Given the description of an element on the screen output the (x, y) to click on. 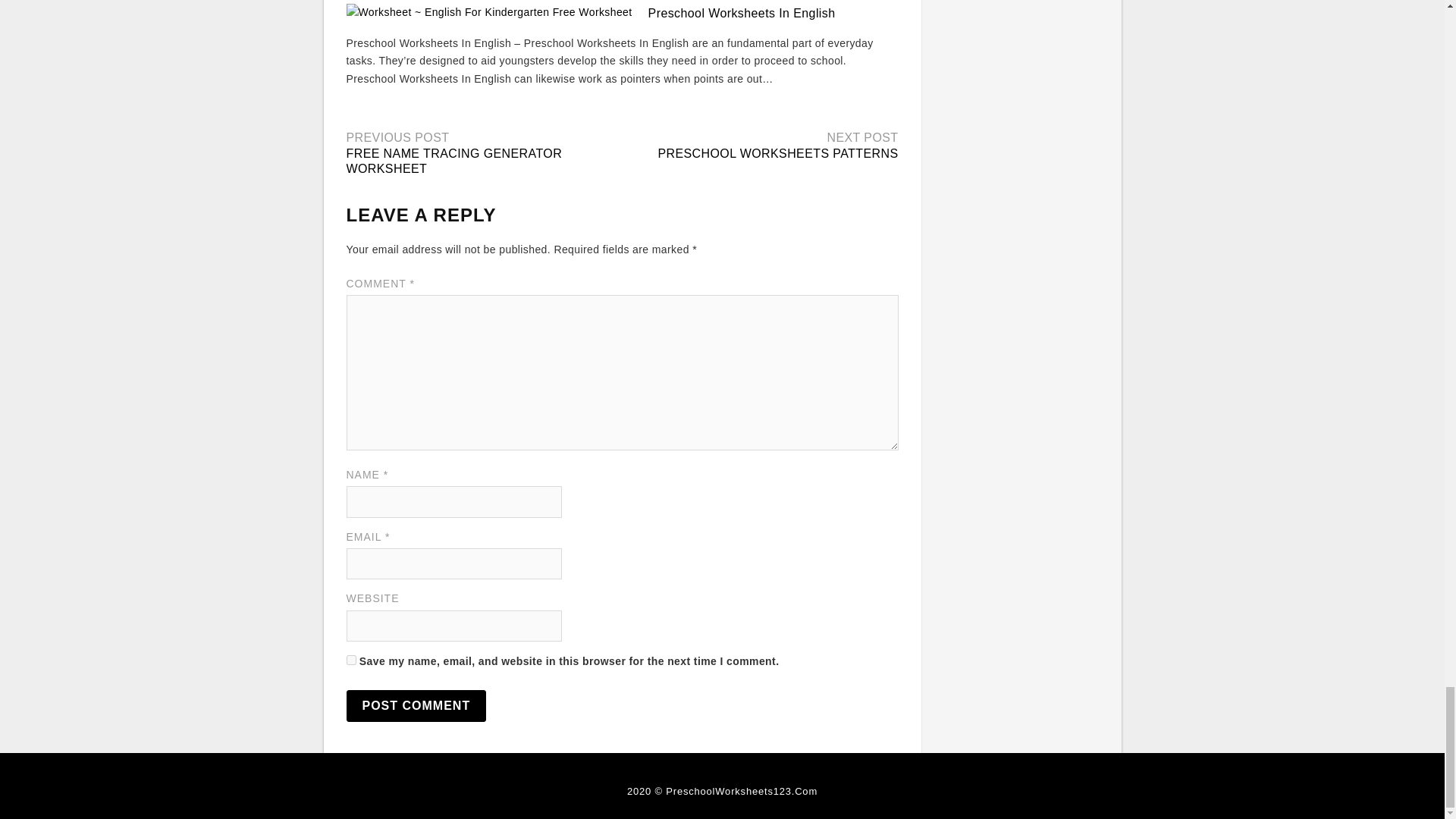
Preschool Worksheets In English (741, 12)
FREE NAME TRACING GENERATOR WORKSHEET (454, 161)
Post Comment (416, 705)
yes (350, 660)
Post Comment (416, 705)
PRESCHOOL WORKSHEETS PATTERNS (778, 153)
